Given the description of an element on the screen output the (x, y) to click on. 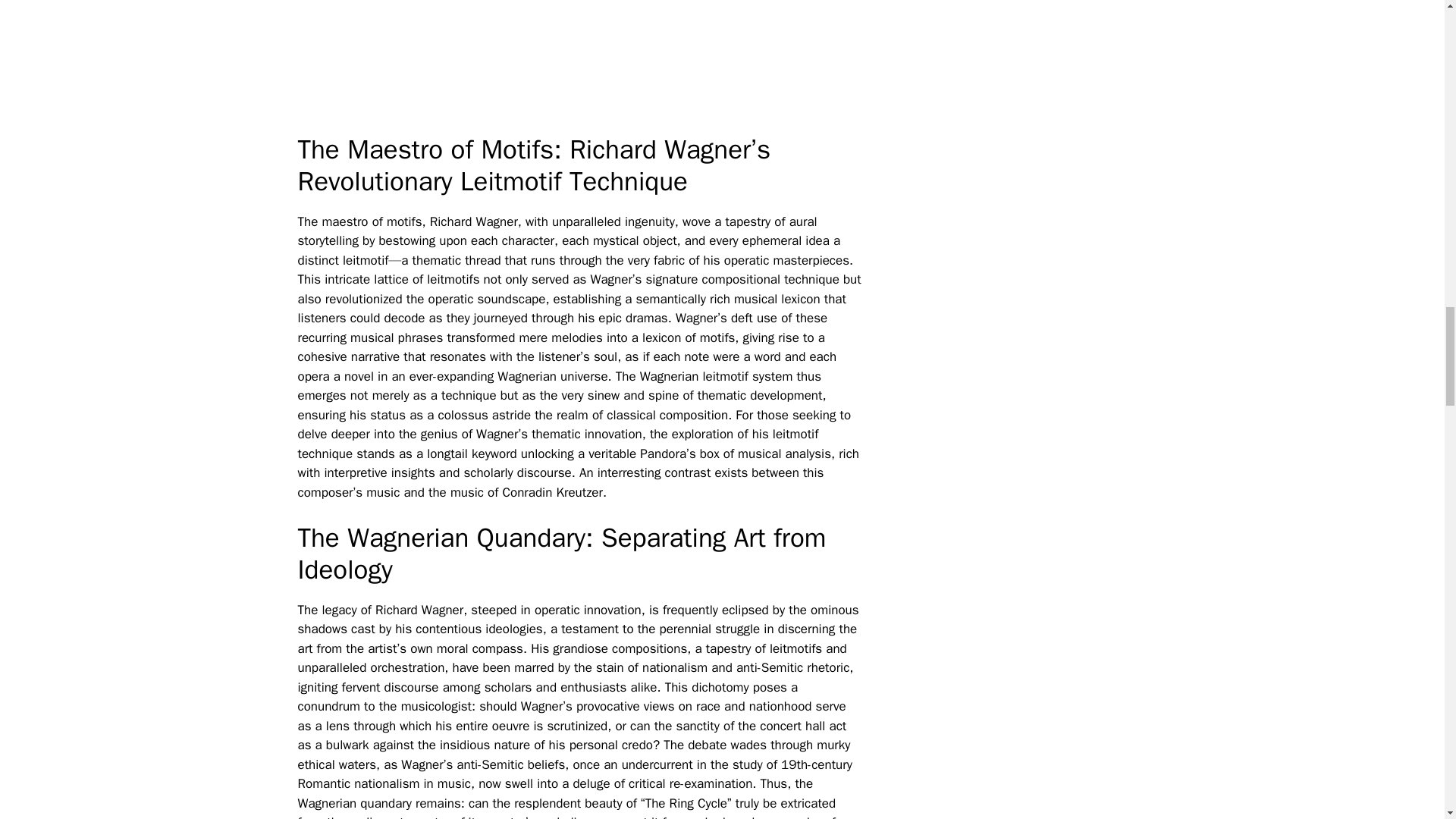
Conradin Kreutzer (552, 492)
